Given the description of an element on the screen output the (x, y) to click on. 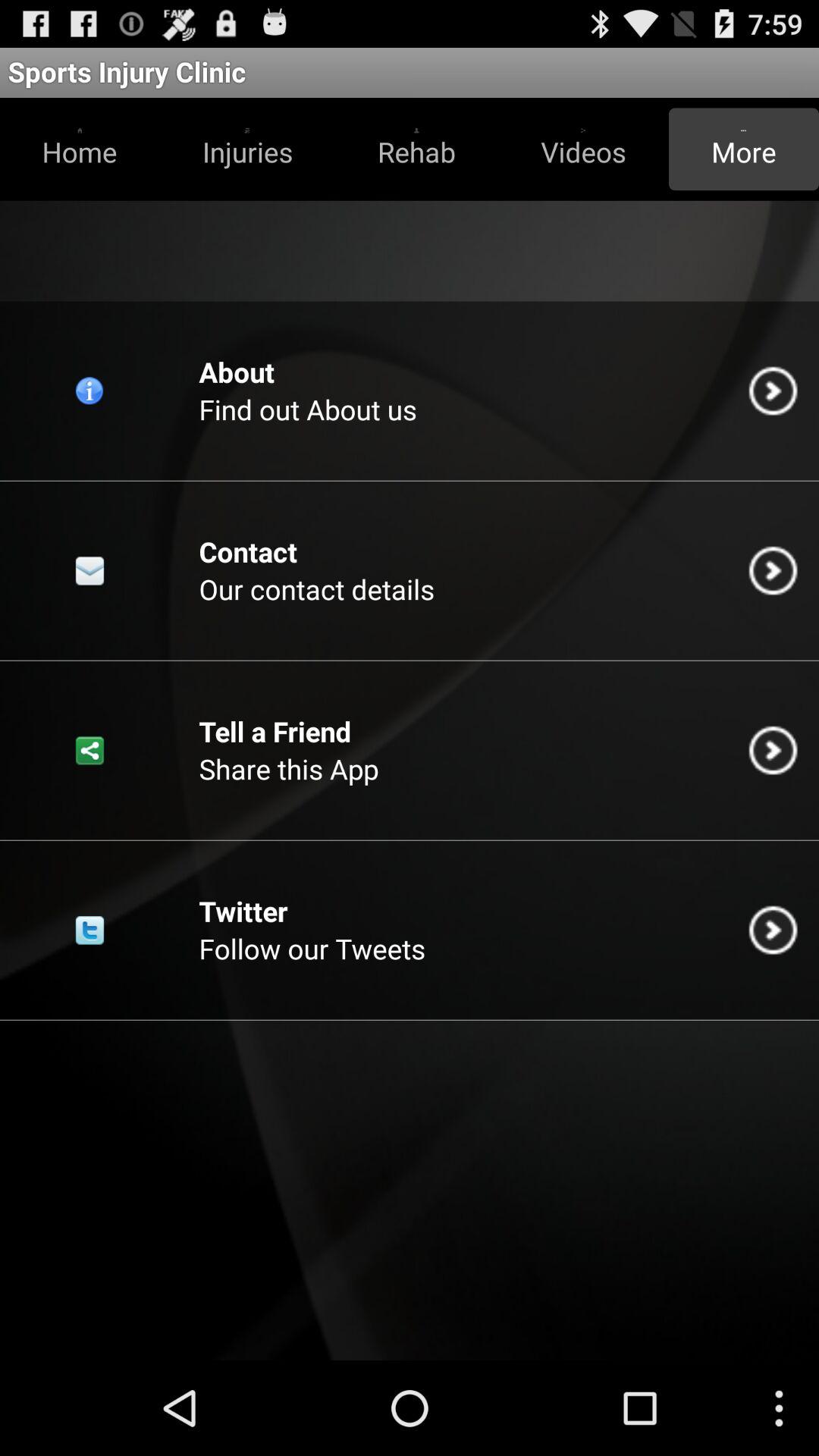
click home (79, 149)
